Given the description of an element on the screen output the (x, y) to click on. 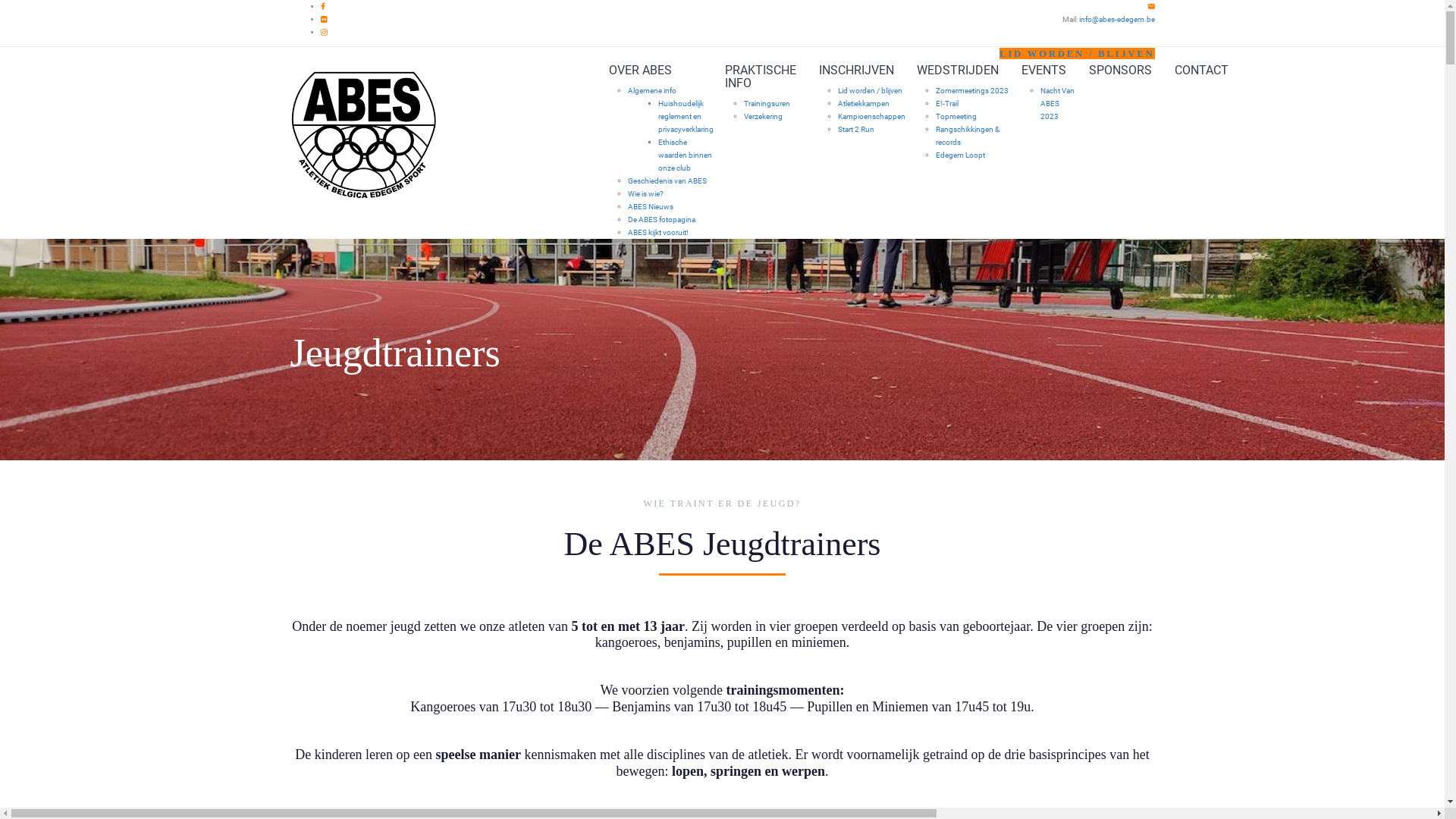
SPONSORS Element type: text (1119, 70)
Zomermeetings 2023 Element type: text (971, 90)
Nacht Van ABES 2023 Element type: text (1057, 103)
Algemene info Element type: text (651, 90)
EVENTS Element type: text (1043, 70)
Trainingsuren Element type: text (766, 103)
Rangschikkingen & records Element type: text (967, 135)
Wie is wie? Element type: text (645, 193)
Atletiekkampen Element type: text (862, 103)
ABES Nieuws Element type: text (650, 206)
OVER ABES Element type: text (655, 70)
CONTACT Element type: text (1201, 70)
De ABES fotopagina Element type: text (661, 219)
Edegem Loopt Element type: text (960, 154)
LID WORDEN / BLIJVEN Element type: text (1076, 53)
Huishoudelijk reglement en privacyverklaring Element type: text (685, 116)
INSCHRIJVEN Element type: text (855, 70)
Kampioenschappen Element type: text (870, 116)
E!-Trail Element type: text (946, 103)
WEDSTRIJDEN Element type: text (957, 70)
Geschiedenis van ABES Element type: text (666, 180)
PRAKTISCHE INFO Element type: text (759, 76)
ABES kijkt vooruit! Element type: text (657, 232)
Ethische waarden binnen onze club Element type: text (685, 155)
Verzekering Element type: text (762, 116)
Topmeeting Element type: text (955, 116)
Lid worden / blijven Element type: text (869, 90)
info@abes-edegem.be Element type: text (1116, 19)
Start 2 Run Element type: text (855, 129)
